Given the description of an element on the screen output the (x, y) to click on. 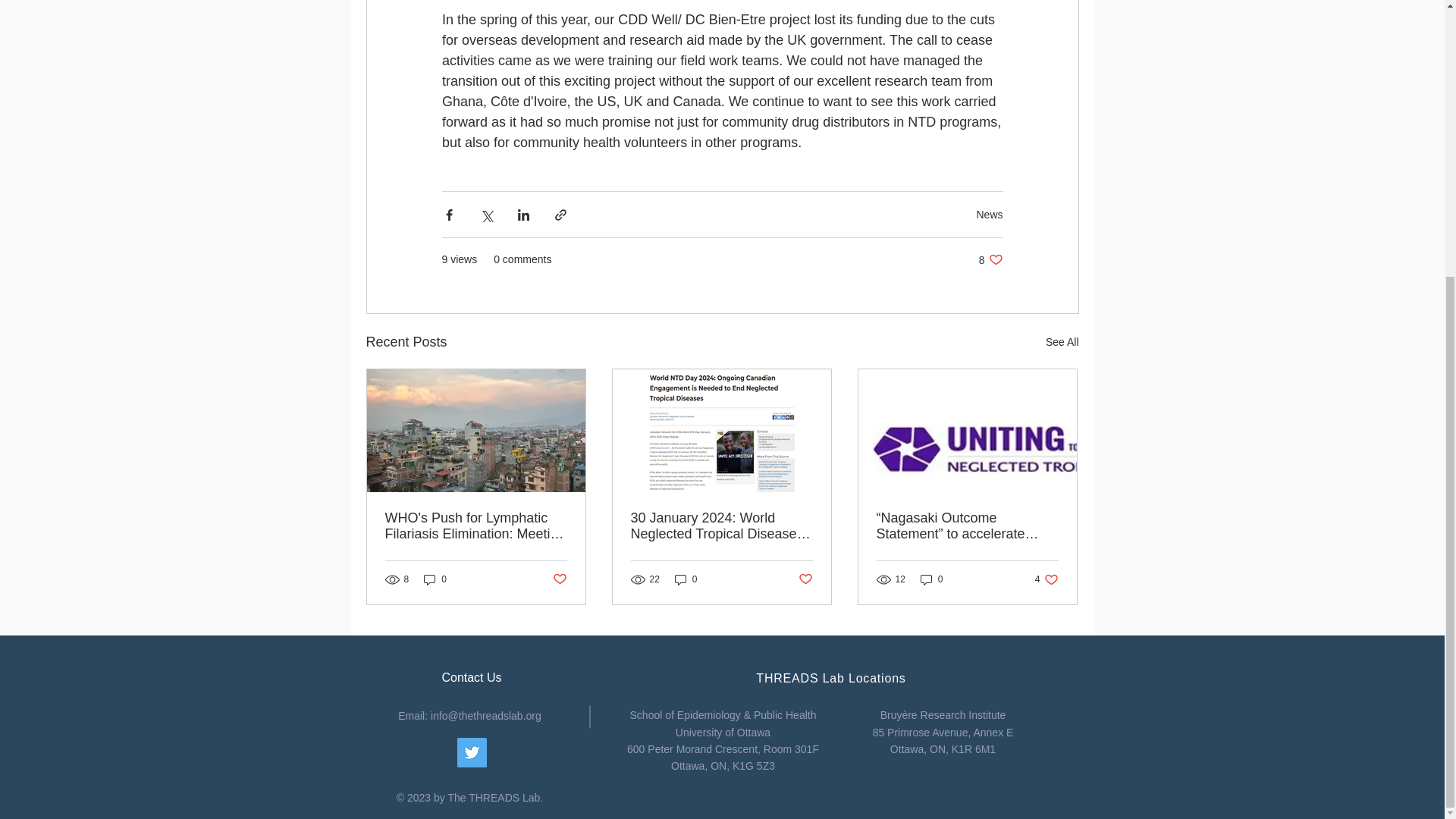
0 (931, 578)
Post not marked as liked (804, 579)
30 January 2024: World Neglected Tropical Diseases Day (721, 526)
See All (1061, 341)
News (990, 259)
Post not marked as liked (1046, 578)
0 (989, 214)
0 (558, 579)
